Given the description of an element on the screen output the (x, y) to click on. 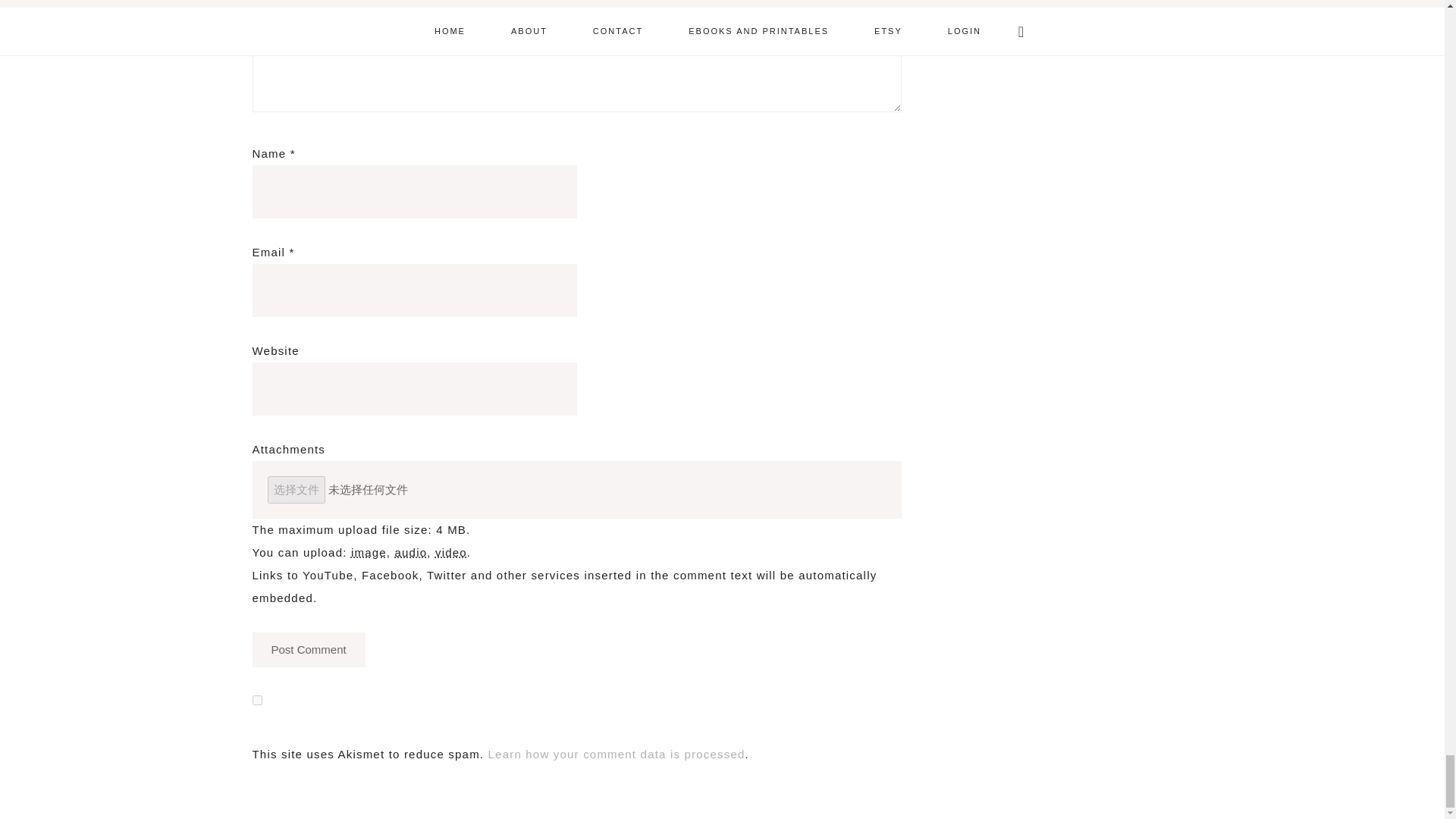
on (256, 700)
mp3, m4a, m4b, aac, ram, wav, ogg, oga, flac, wma, mka (411, 552)
jpg, jpeg, jpe, png, bmp, tiff, tif, webp, ico, heic (368, 552)
Post Comment (308, 649)
